Given the description of an element on the screen output the (x, y) to click on. 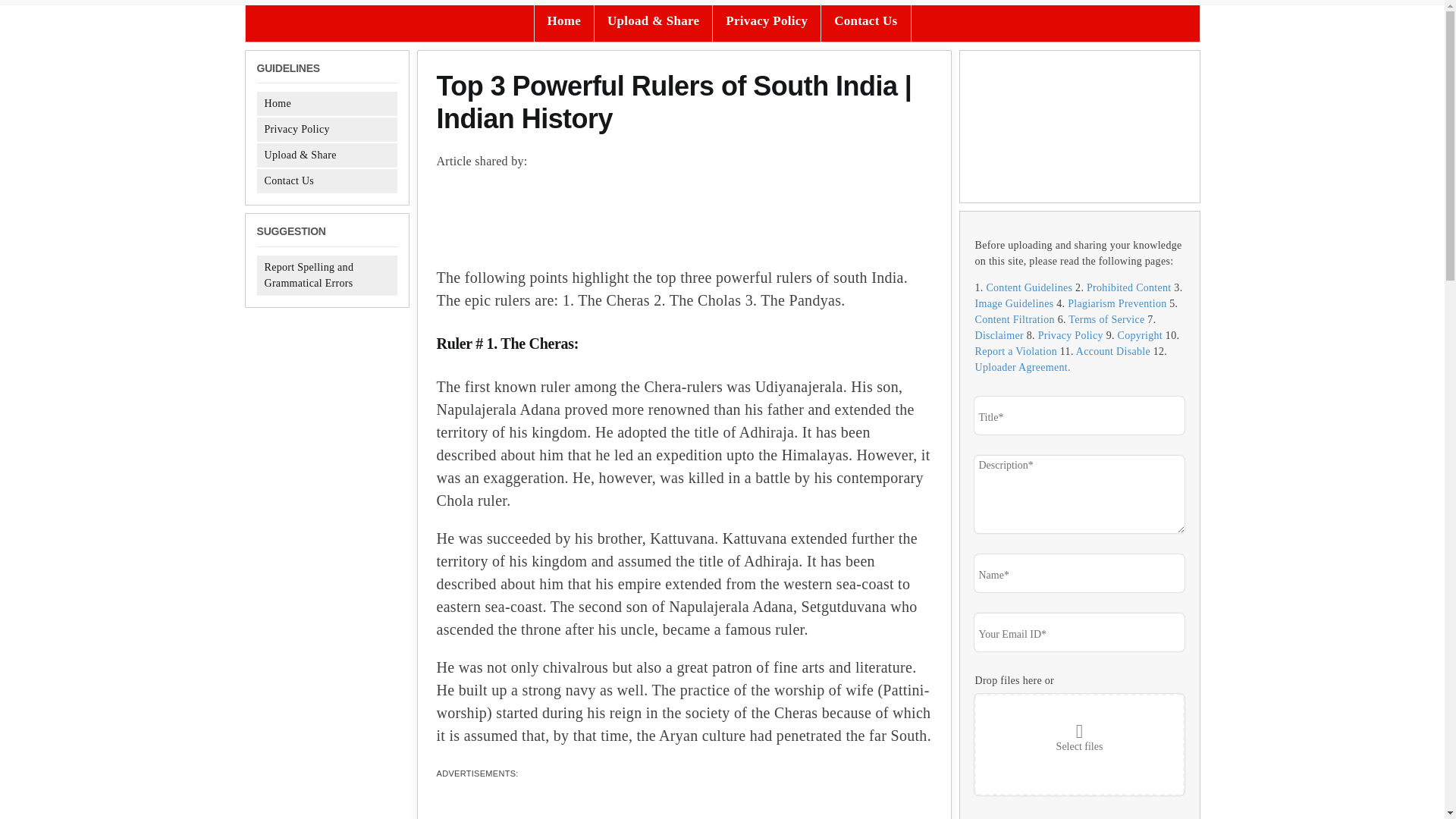
Copyright (1139, 335)
Disclaimer (999, 335)
Privacy Policy (296, 129)
Account Disable (1112, 351)
Privacy Policy (1070, 335)
Report Spelling and Grammatical Errors (308, 275)
Plagiarism Prevention (1116, 303)
Contact Us (288, 180)
Image Guidelines (1014, 303)
Content Guidelines (1028, 287)
